Given the description of an element on the screen output the (x, y) to click on. 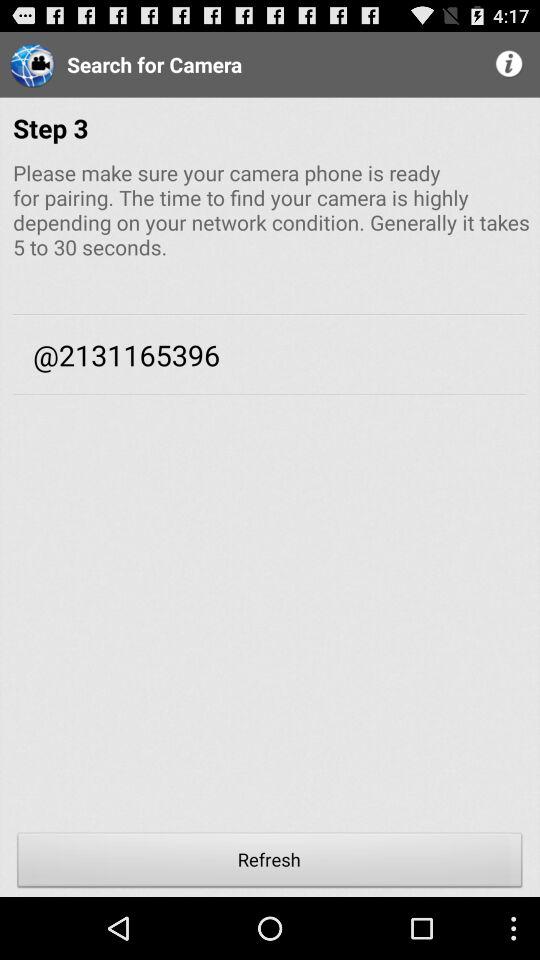
select the item next to search for camera item (509, 63)
